Given the description of an element on the screen output the (x, y) to click on. 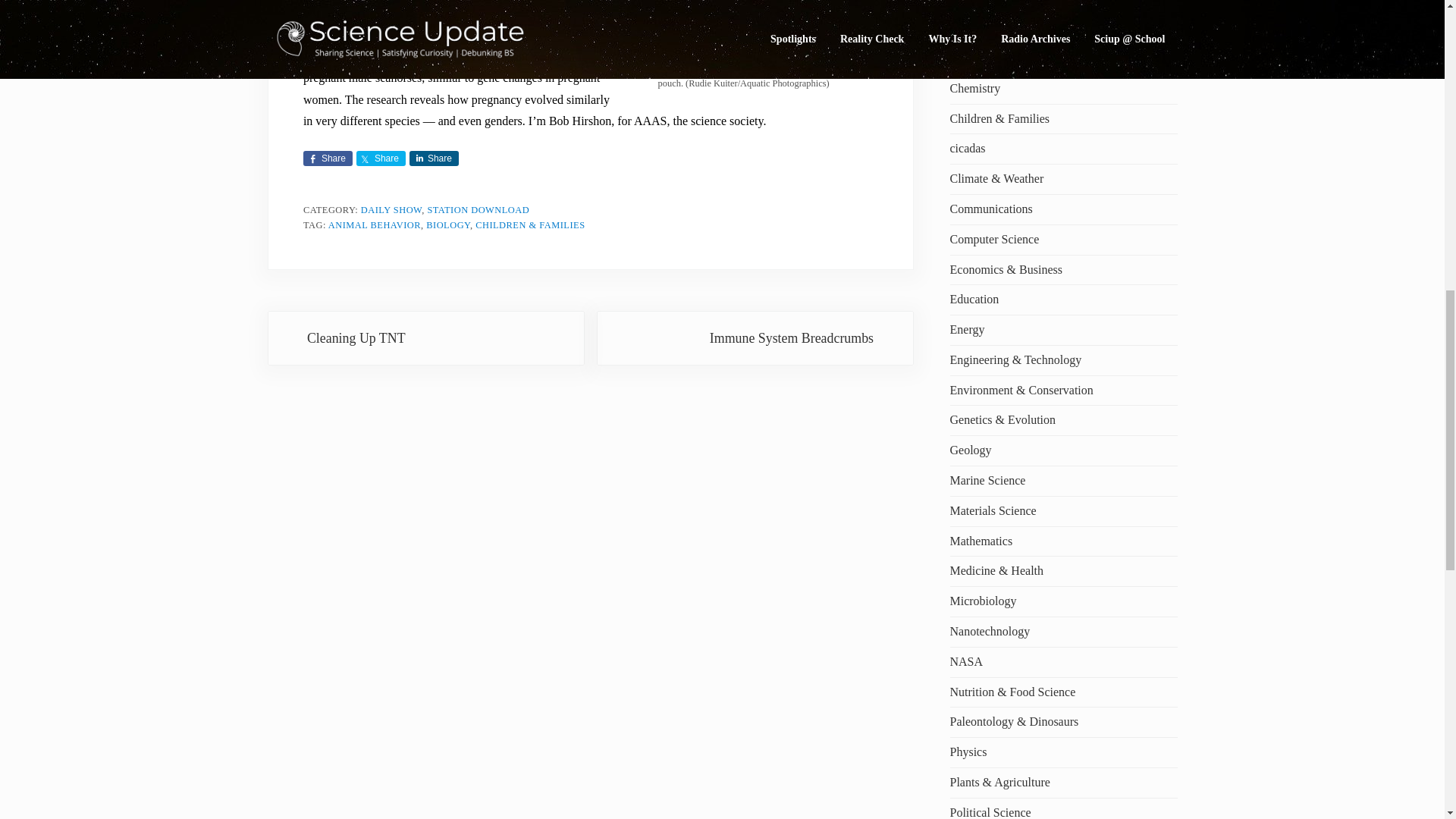
Share (327, 158)
Share (381, 158)
